Given the description of an element on the screen output the (x, y) to click on. 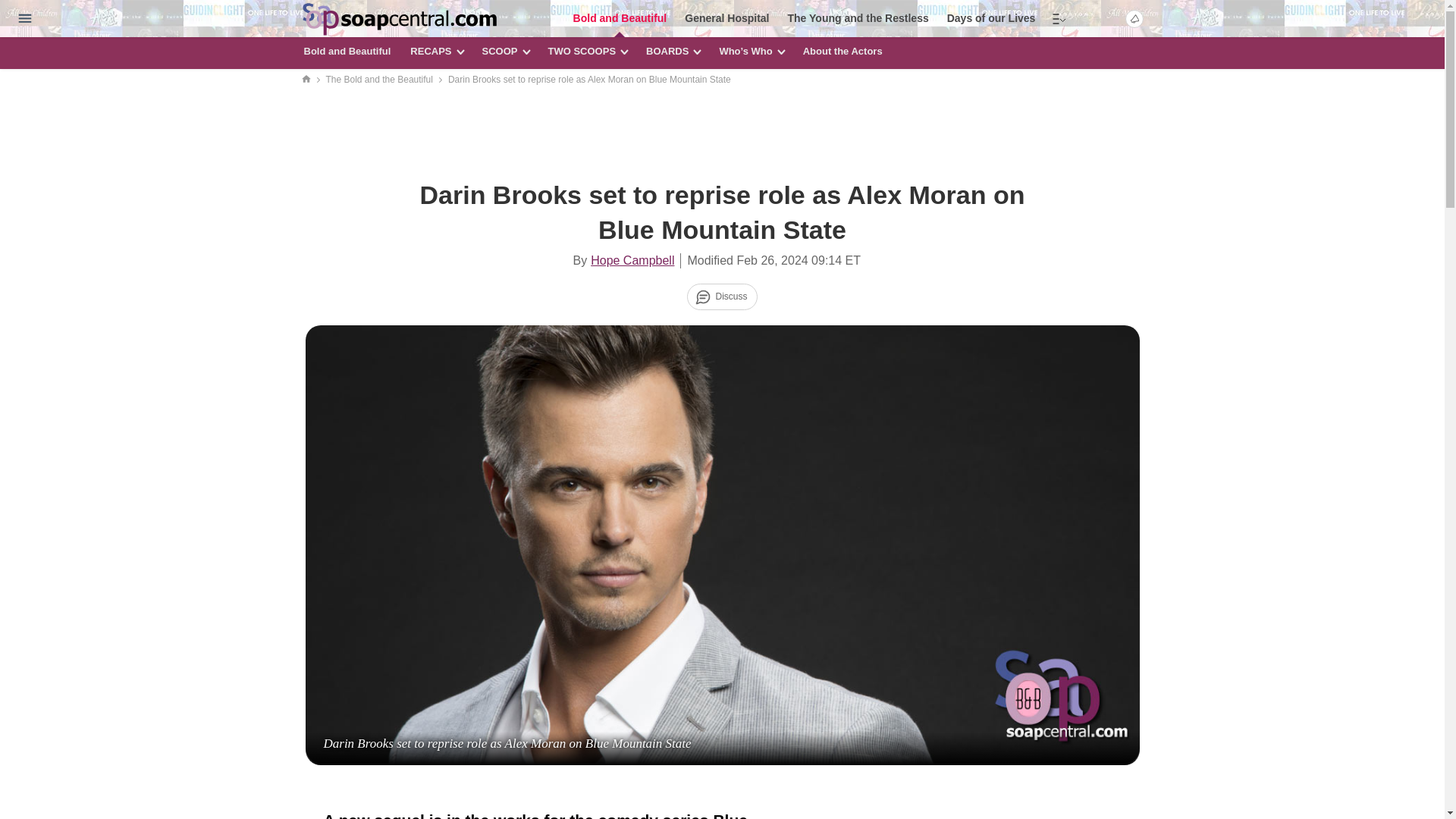
Days of our Lives (990, 18)
Bold and Beautiful (620, 18)
General Hospital (726, 18)
Bold and Beautiful (347, 52)
The Young and the Restless (858, 18)
Notifications (1133, 18)
About the Actors (842, 52)
Soap news (399, 20)
